Given the description of an element on the screen output the (x, y) to click on. 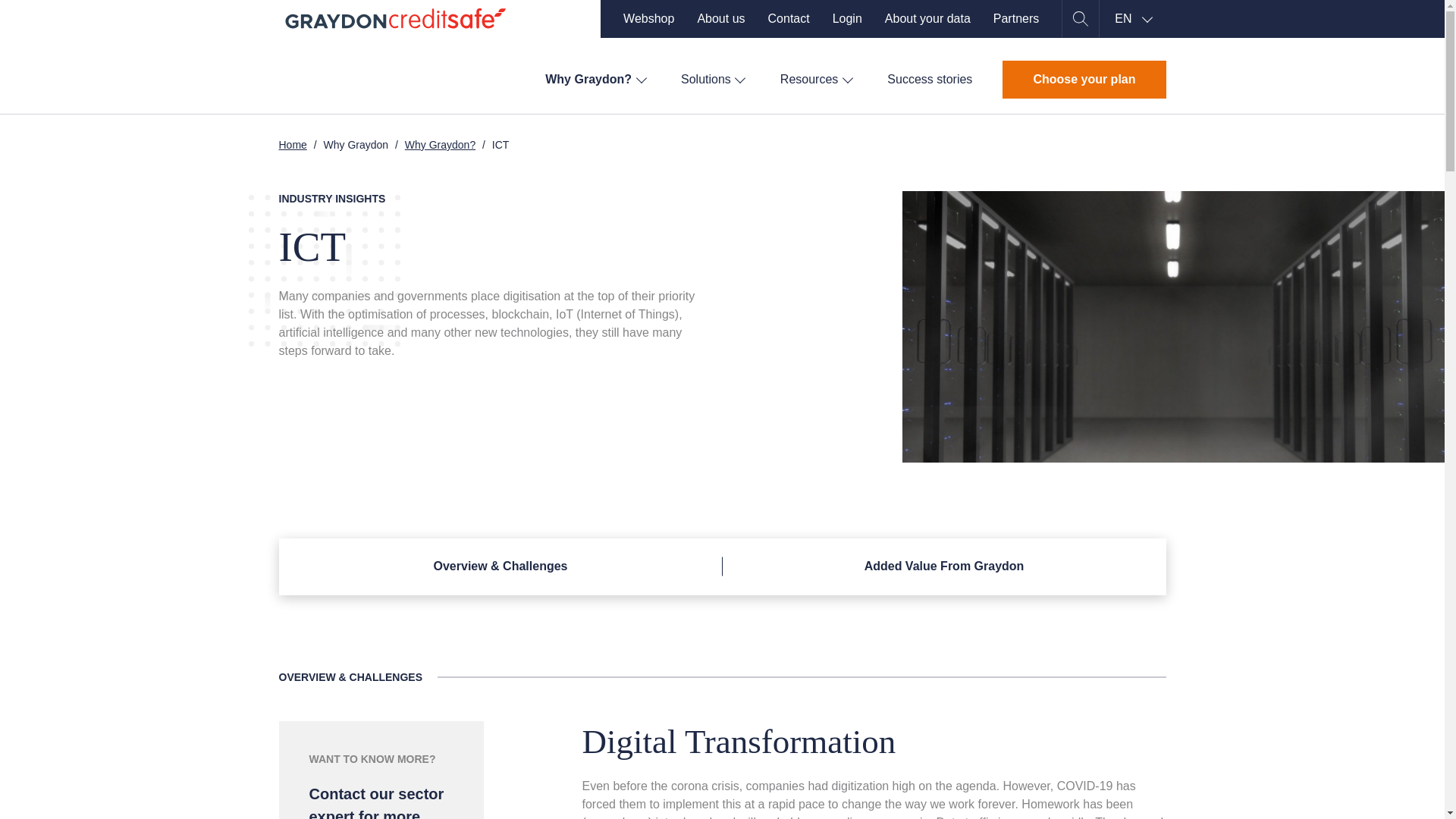
About us (720, 18)
Go to the homepage (396, 18)
Graydon (396, 18)
Login (846, 18)
Click here to search (1080, 18)
Login portals (846, 18)
Contact (788, 18)
Go to GraydonGo (648, 18)
EN (1132, 18)
About your data (928, 18)
Webshop (648, 18)
Contact (788, 18)
About your data (928, 18)
About us (720, 18)
